Given the description of an element on the screen output the (x, y) to click on. 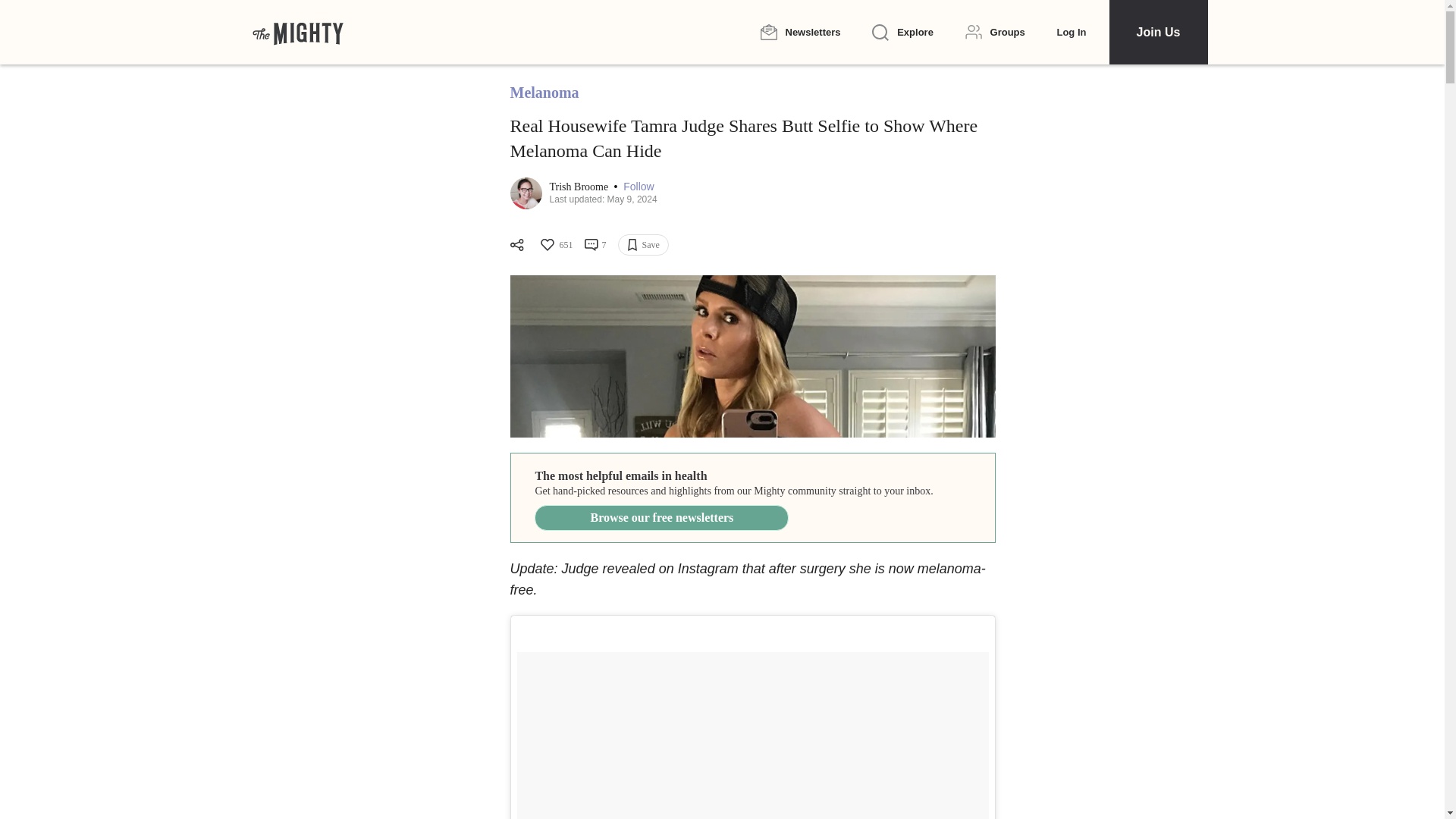
Trish Broome (579, 186)
Follow (638, 186)
Newsletters (800, 31)
651 (555, 244)
The Mighty (296, 32)
Save (642, 244)
Groups (995, 32)
Explore (902, 32)
Browse our free newsletters (661, 517)
